Given the description of an element on the screen output the (x, y) to click on. 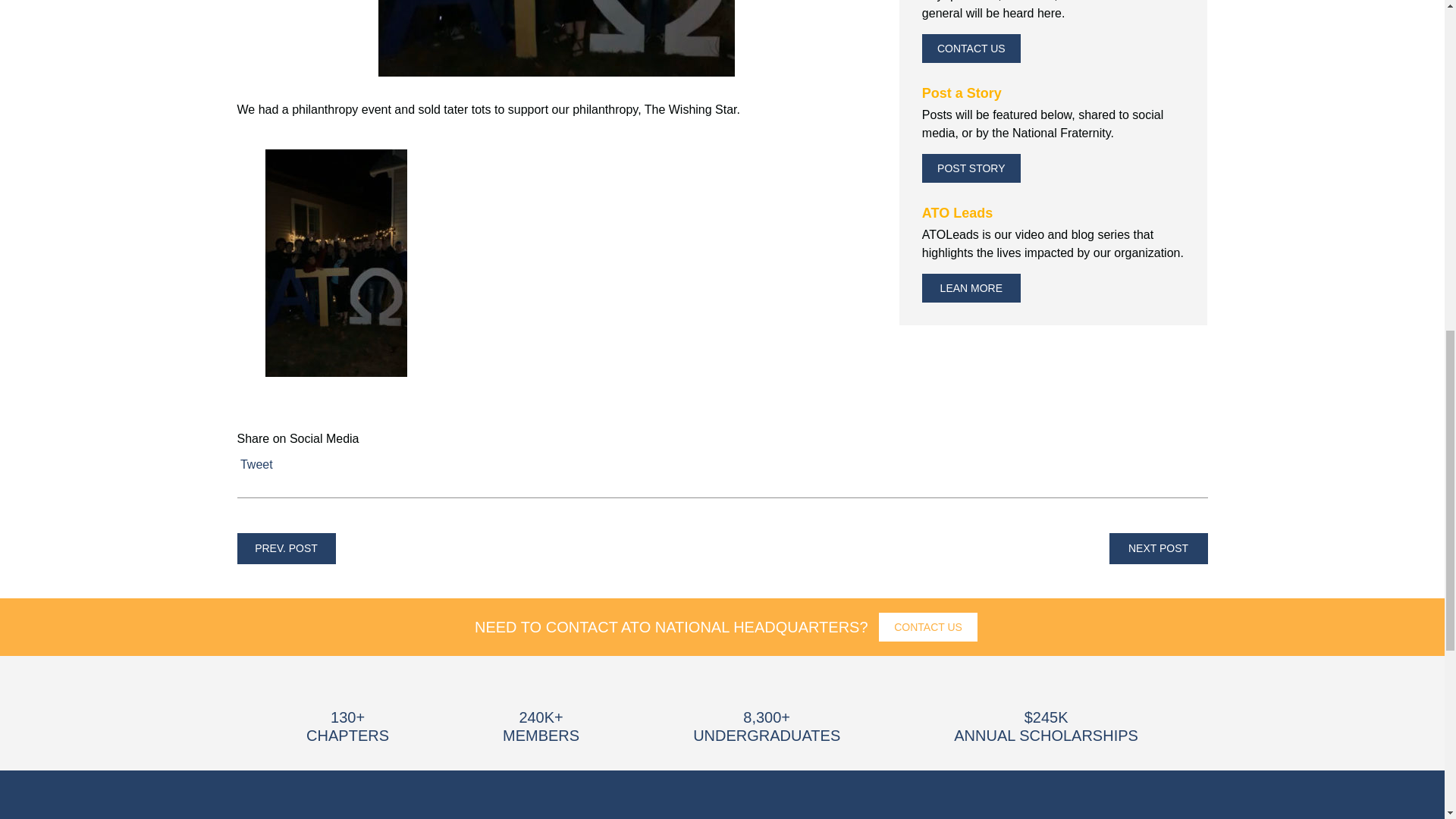
NEXT POST (1157, 548)
Tweet (256, 463)
Lean More (970, 287)
CONTACT US (927, 626)
LEAN MORE (970, 287)
CONTACT US (970, 48)
Post Story (970, 167)
PREV. POST (284, 548)
POST STORY (970, 167)
Contact Us (970, 48)
